Given the description of an element on the screen output the (x, y) to click on. 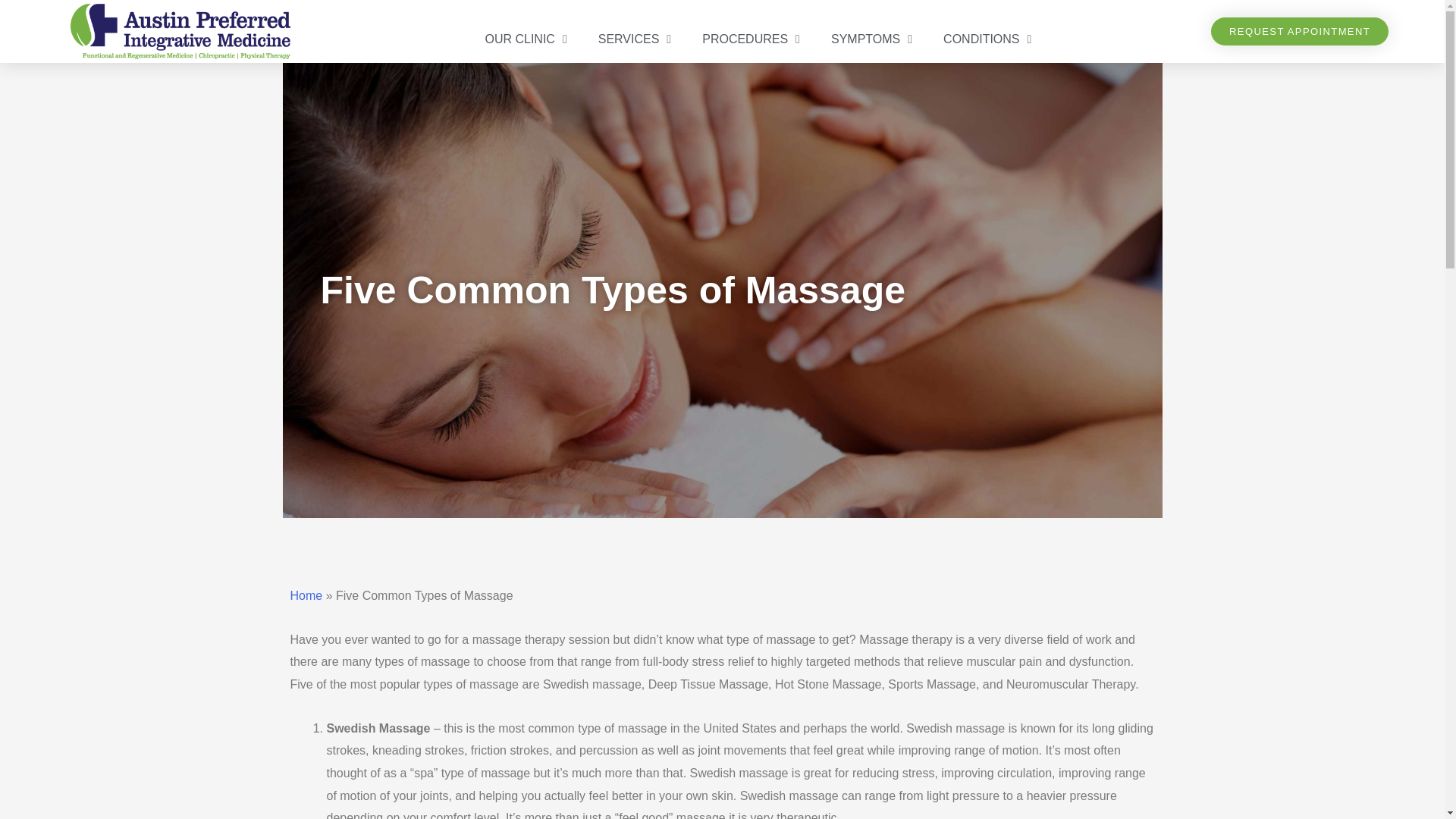
OUR CLINIC (524, 39)
SERVICES (634, 39)
